Given the description of an element on the screen output the (x, y) to click on. 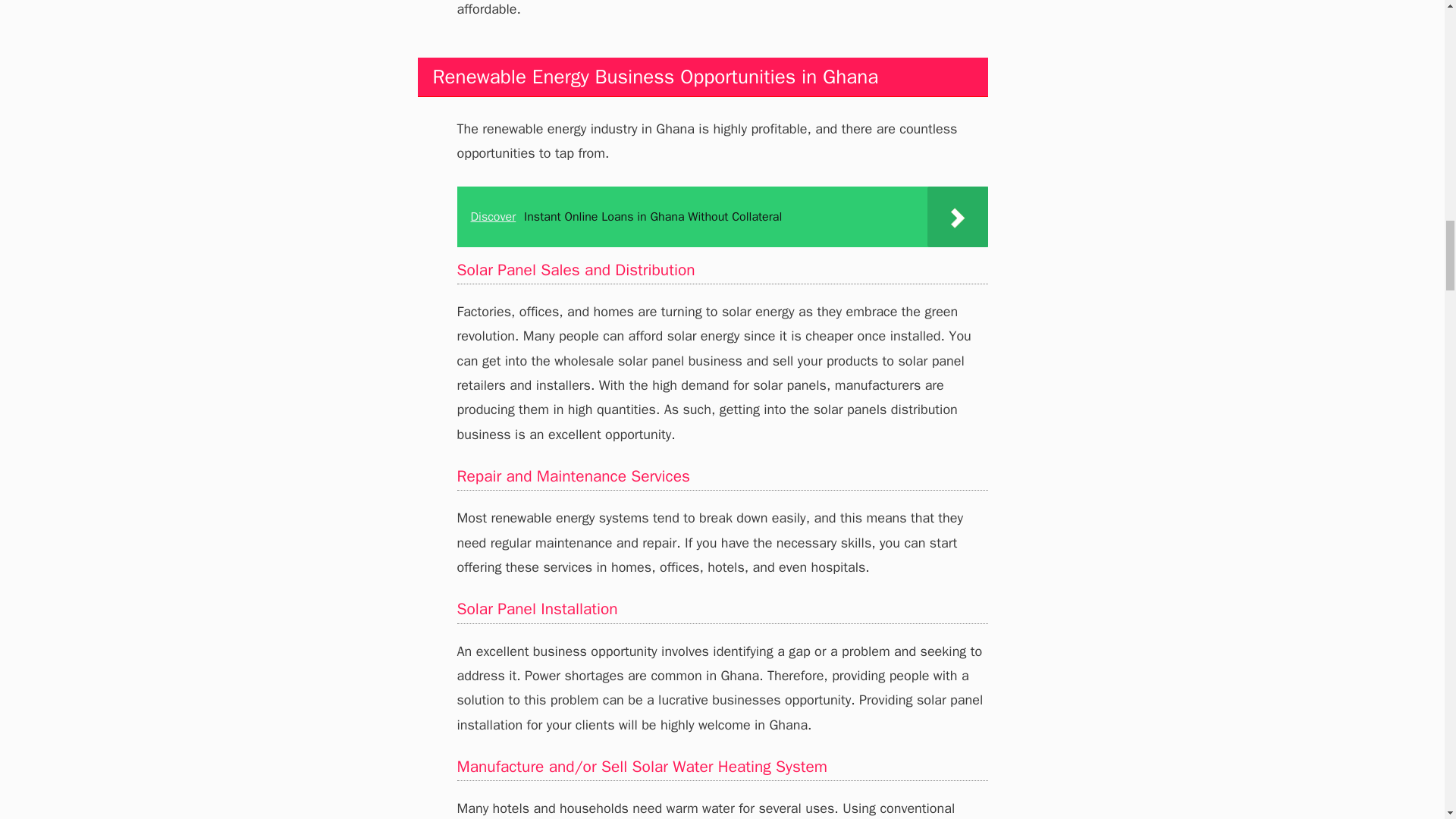
Discover  Instant Online Loans in Ghana Without Collateral (722, 216)
